Given the description of an element on the screen output the (x, y) to click on. 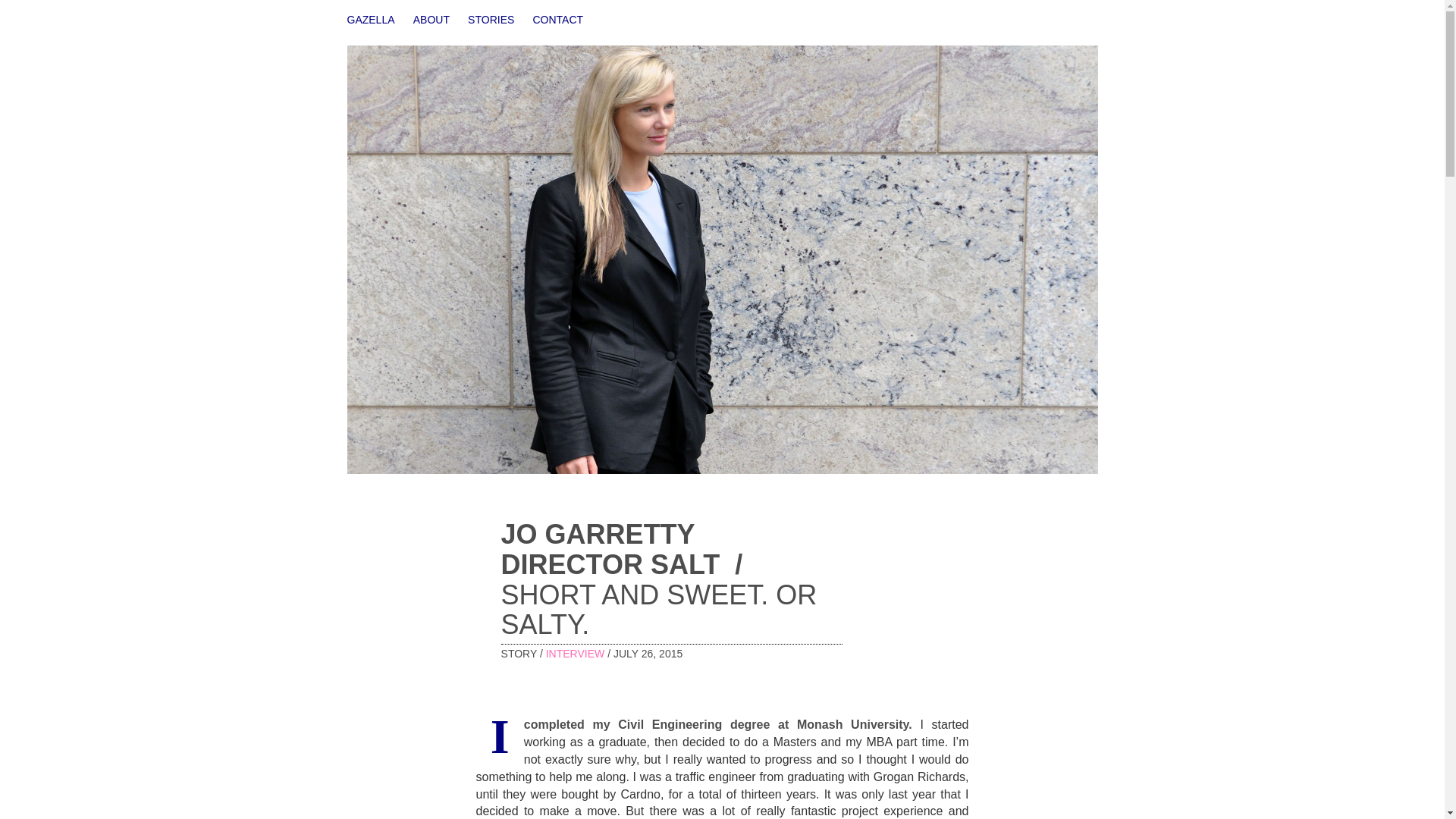
CONTACT Element type: text (557, 19)
INTERVIEW Element type: text (575, 653)
STORIES Element type: text (490, 19)
ABOUT Element type: text (431, 19)
GAZELLA Element type: text (371, 19)
